Given the description of an element on the screen output the (x, y) to click on. 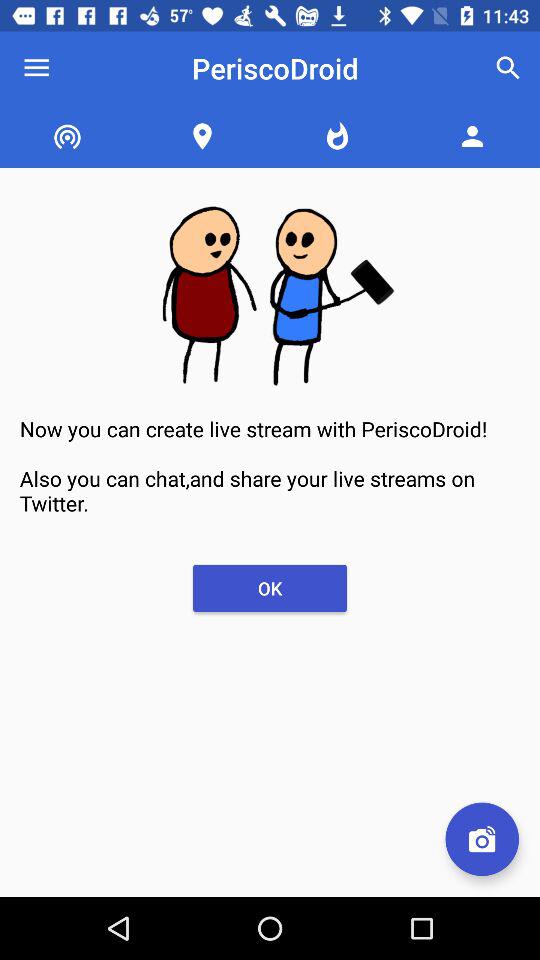
press item to the right of the periscodroid icon (508, 67)
